Given the description of an element on the screen output the (x, y) to click on. 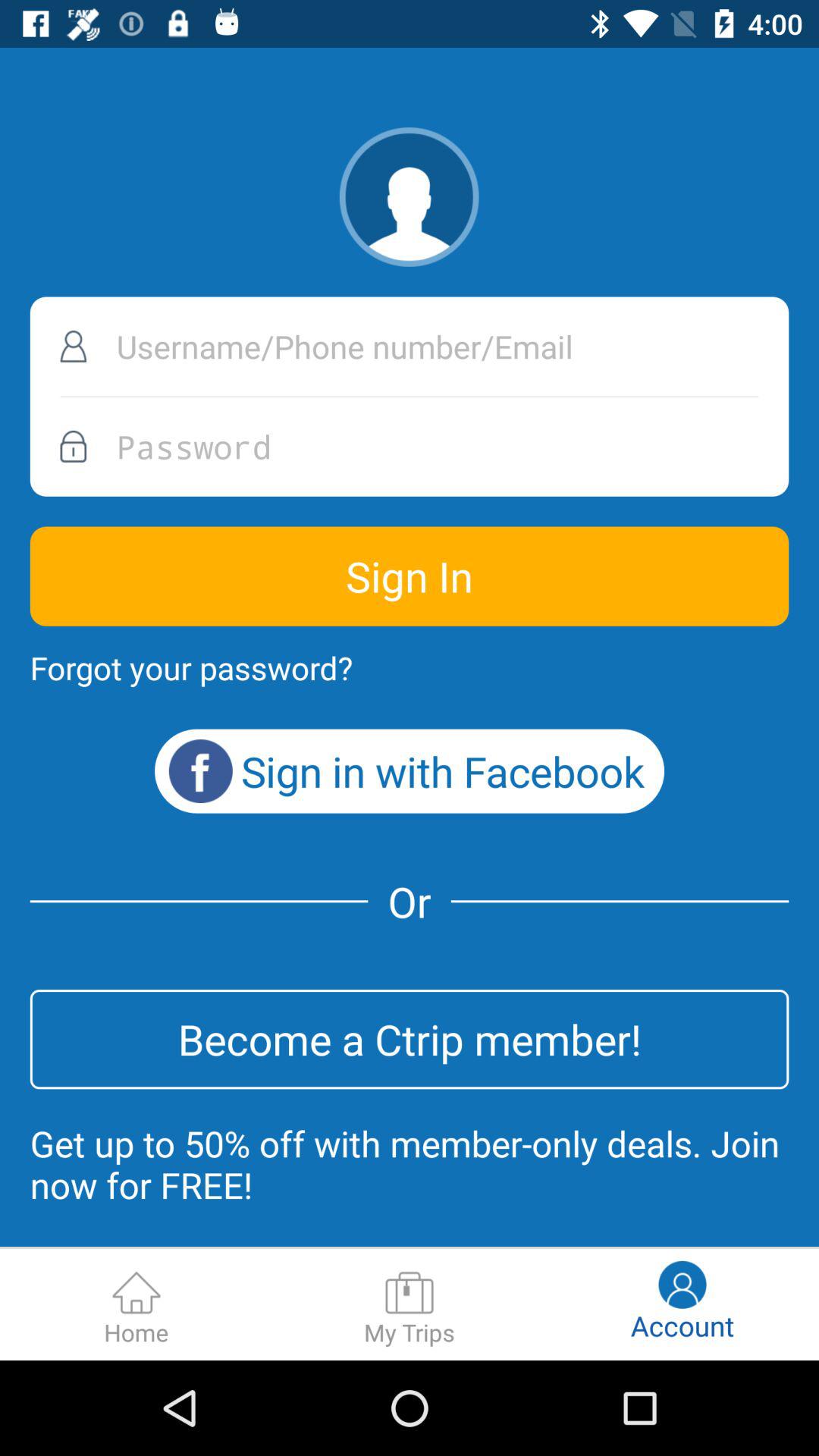
type your username phone or email (409, 346)
